Given the description of an element on the screen output the (x, y) to click on. 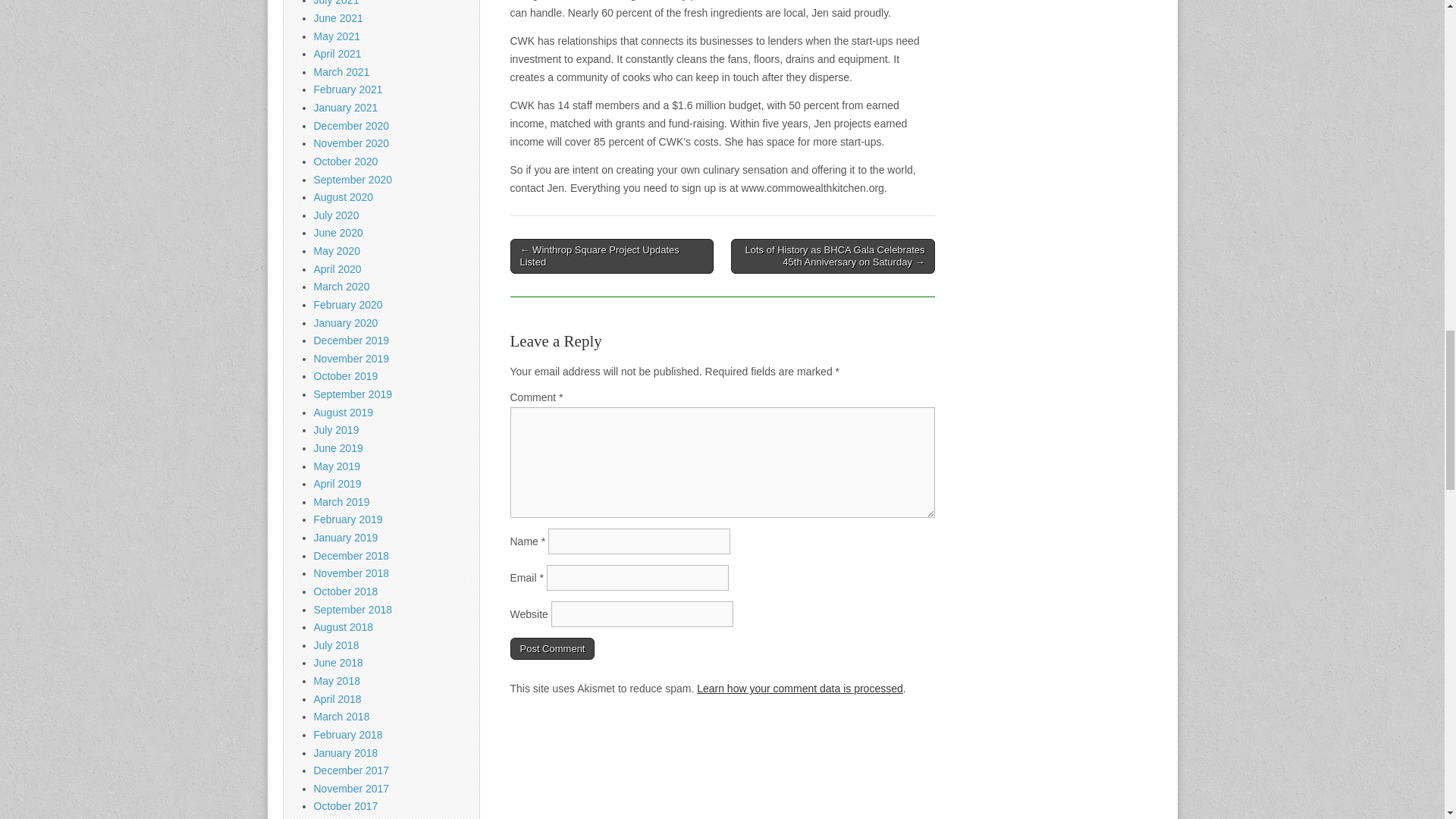
Post Comment (551, 648)
Post Comment (551, 648)
Learn how your comment data is processed (799, 688)
